Given the description of an element on the screen output the (x, y) to click on. 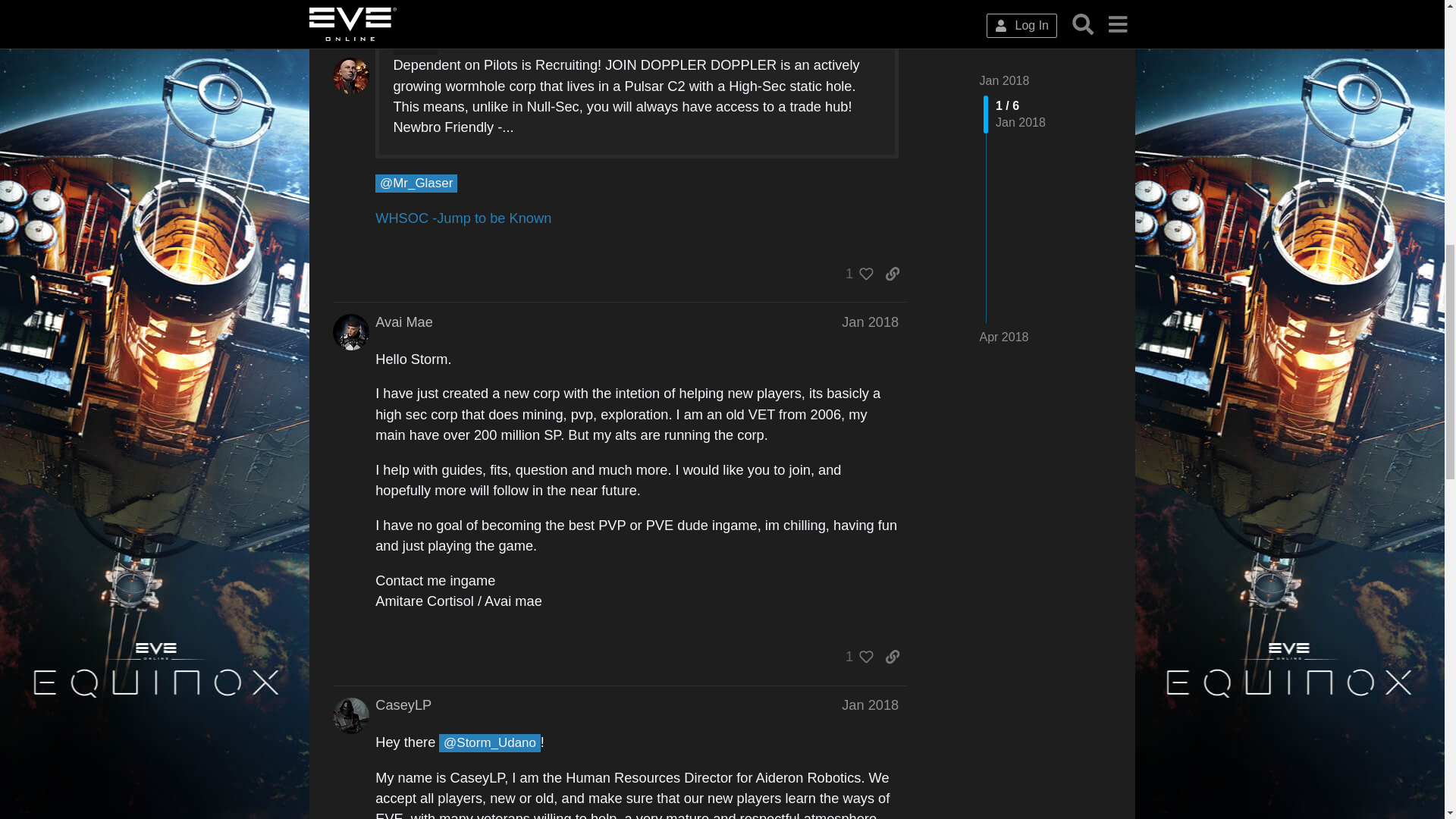
Avai Mae (403, 322)
Jan 2018 (869, 322)
WHSOC -Jump to be Known (463, 217)
1 (855, 273)
1 (855, 656)
